Given the description of an element on the screen output the (x, y) to click on. 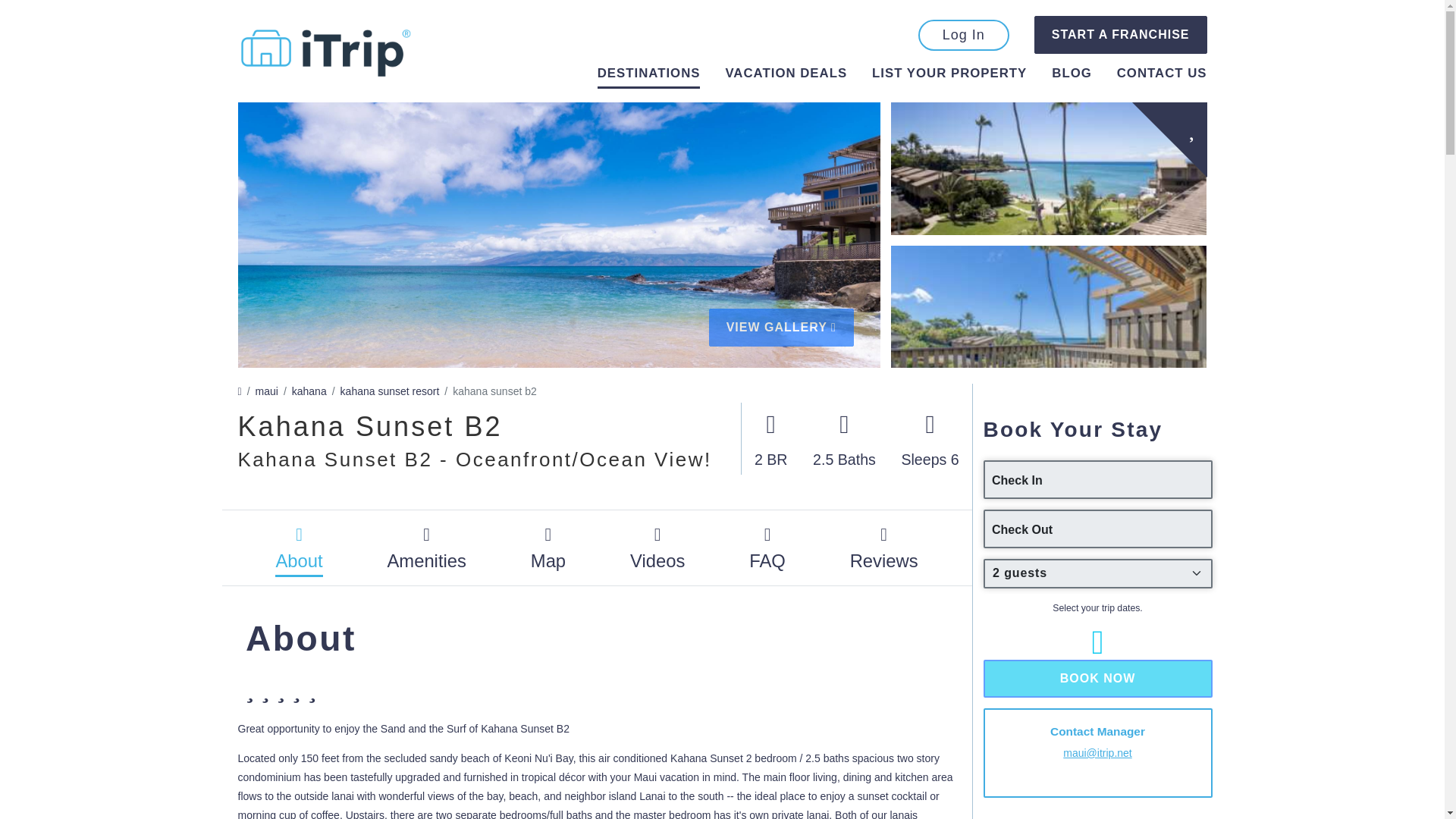
maui (267, 390)
Login to Your Account (963, 34)
Contact (1161, 72)
CONTACT US (1161, 76)
kahana sunset resort (389, 390)
Contact (1161, 76)
Kahana (309, 390)
Videos (657, 547)
BLOG (1070, 76)
Reviews (884, 547)
Vacation Deals (786, 76)
DESTINATIONS (648, 76)
Kahana Sunset B2 (494, 390)
VACATION DEALS (786, 76)
kahana sunset b2 (494, 390)
